Given the description of an element on the screen output the (x, y) to click on. 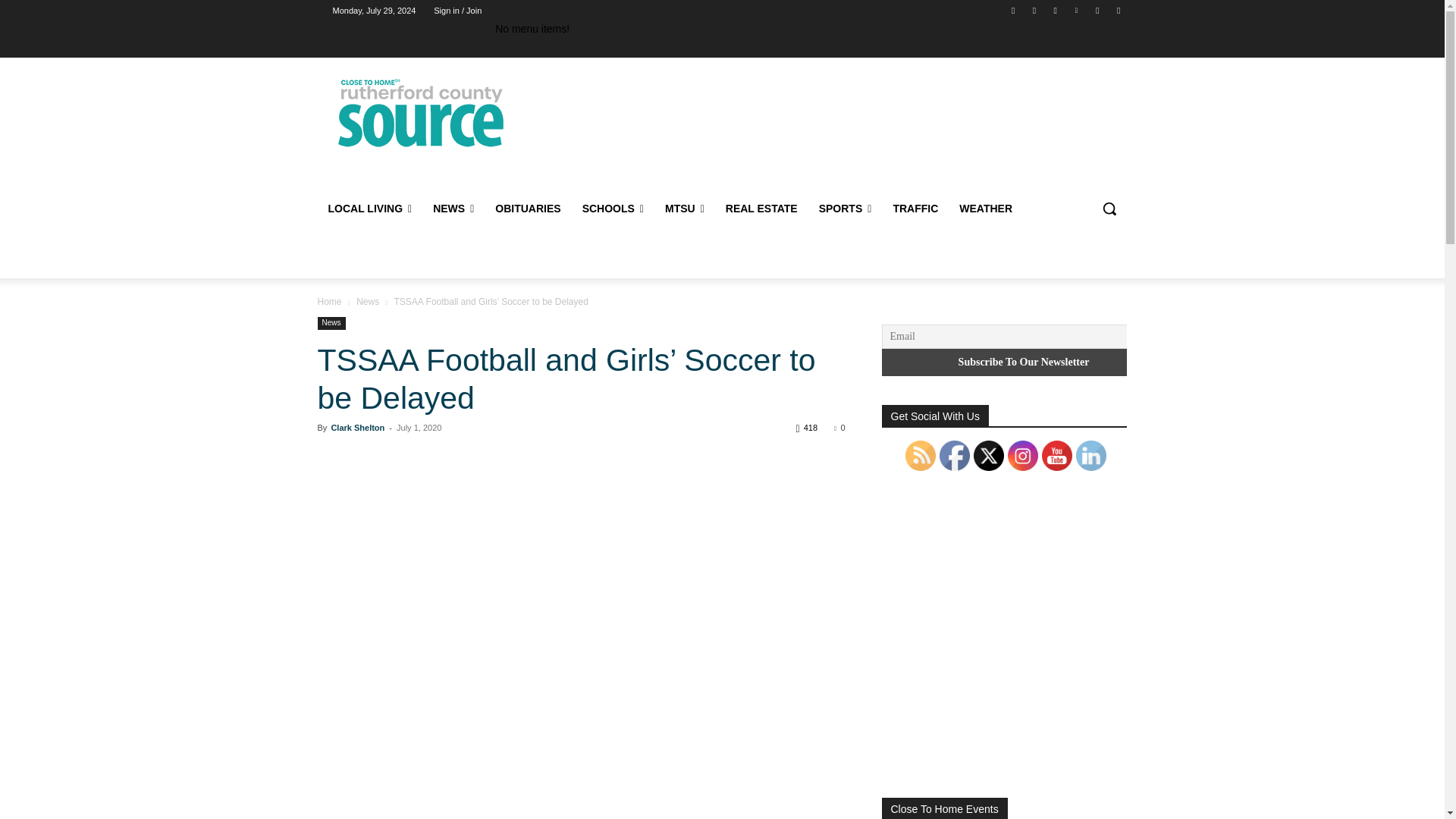
Twitter (1097, 9)
Subscribe To Our Newsletter (1023, 361)
Facebook (1013, 9)
Instagram (1055, 9)
Youtube (1117, 9)
Linkedin (1075, 9)
Flipboard (1034, 9)
